Given the description of an element on the screen output the (x, y) to click on. 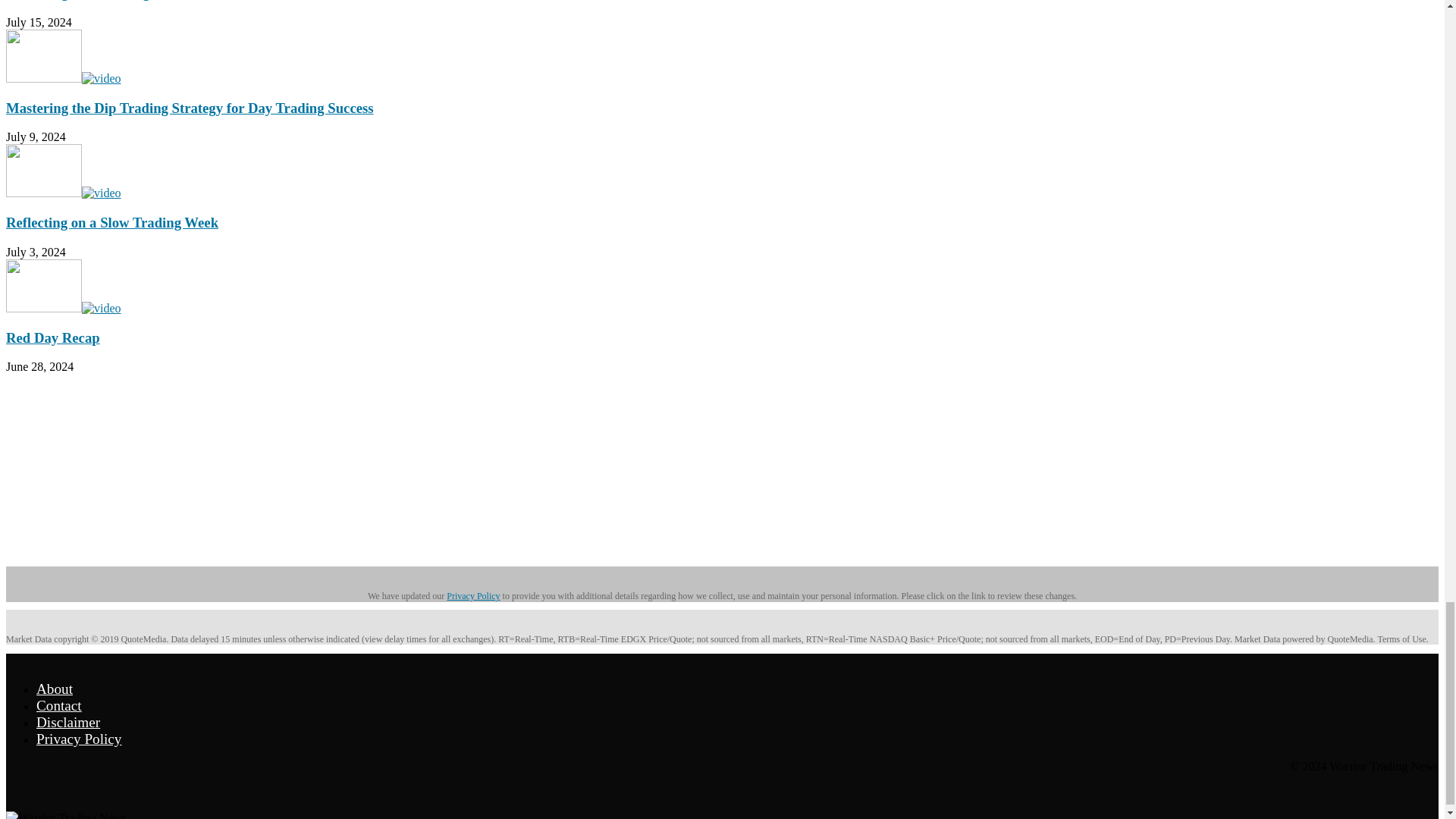
Mastering the Dip Trading Strategy for Day Trading Success (62, 78)
